Given the description of an element on the screen output the (x, y) to click on. 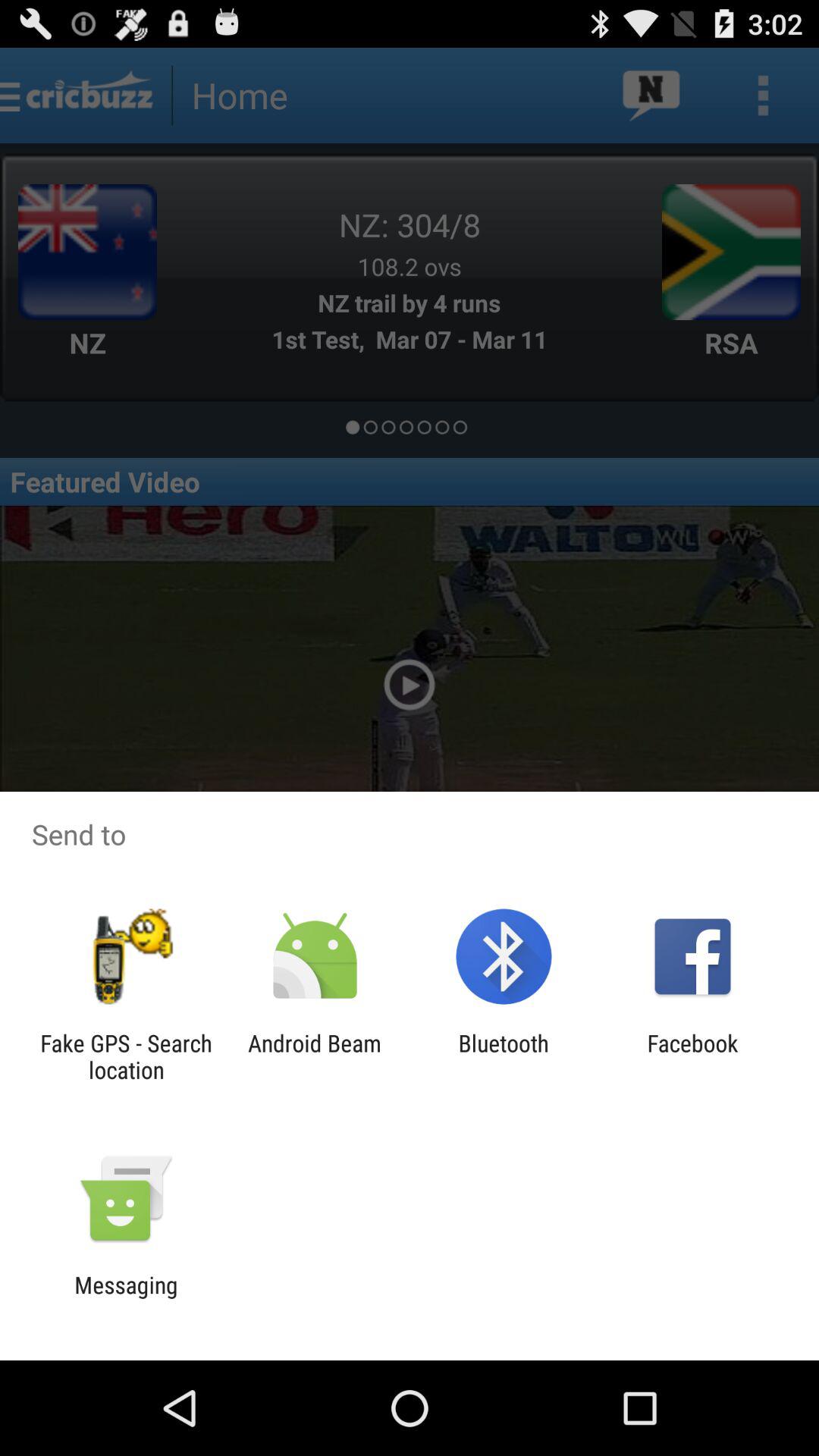
choose item next to the bluetooth (314, 1056)
